Given the description of an element on the screen output the (x, y) to click on. 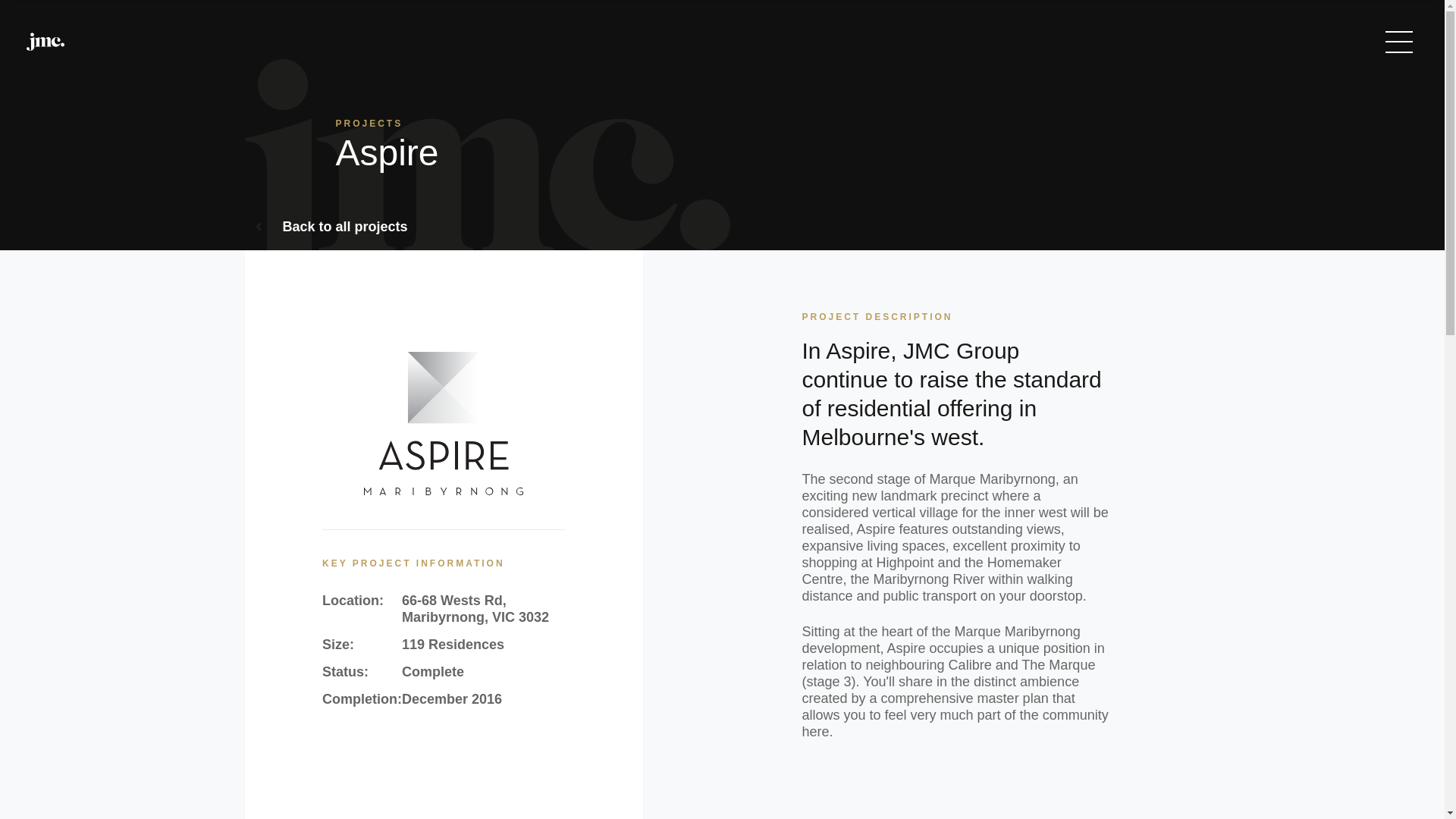
Back to all projects Element type: text (331, 226)
